Given the description of an element on the screen output the (x, y) to click on. 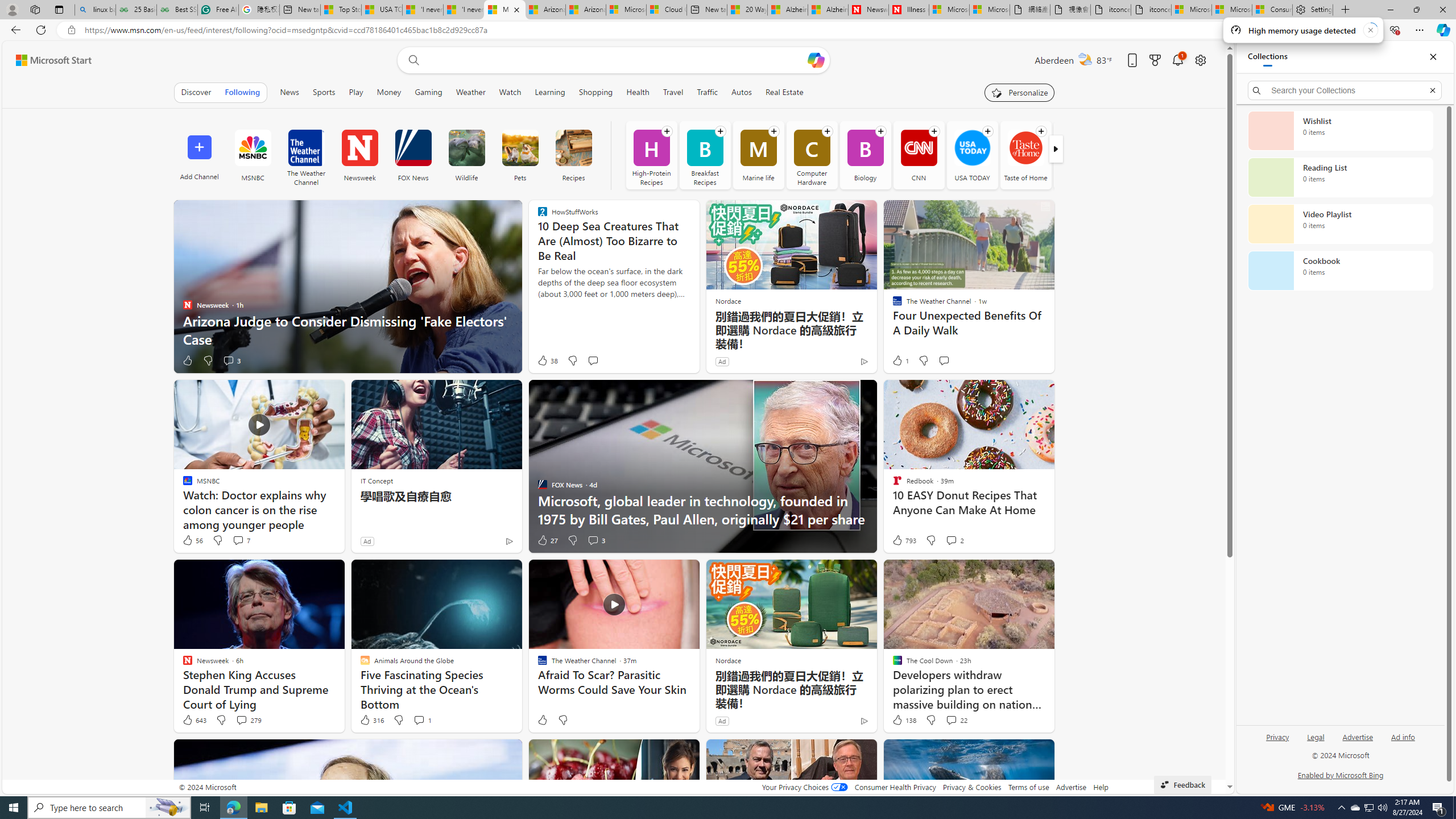
Cloud Computing Services | Microsoft Azure (666, 9)
Video Playlist collection, 0 items (1339, 223)
316 Like (370, 719)
Weather (470, 92)
Microsoft rewards (1154, 60)
Taste of Home (1025, 155)
Gaming (428, 92)
Play (355, 92)
NBC News (1078, 155)
